Given the description of an element on the screen output the (x, y) to click on. 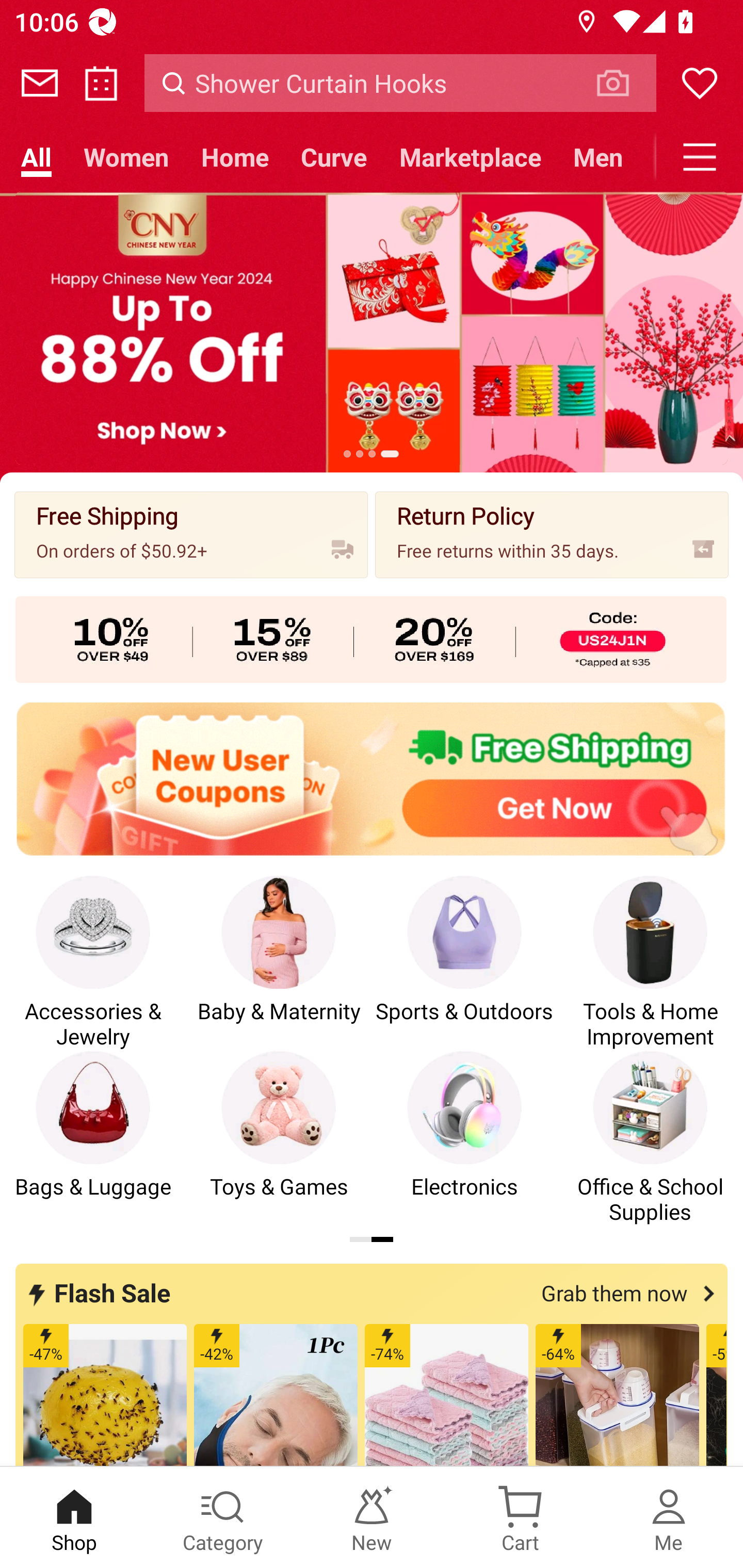
Wishlist (699, 82)
VISUAL SEARCH (623, 82)
All (36, 156)
Women (126, 156)
Home (234, 156)
Curve (333, 156)
Marketplace (470, 156)
Men (597, 156)
Free Shipping On orders of $50.92+ (190, 534)
Return Policy Free returns within 35 days. (551, 534)
Accessories & Jewelry (92, 962)
Baby & Maternity (278, 962)
Sports & Outdoors (464, 962)
Tools & Home Improvement (650, 962)
Bags & Luggage (92, 1138)
Toys & Games (278, 1138)
Electronics (464, 1138)
Office & School Supplies (650, 1138)
Category (222, 1517)
New (371, 1517)
Cart (519, 1517)
Me (668, 1517)
